Given the description of an element on the screen output the (x, y) to click on. 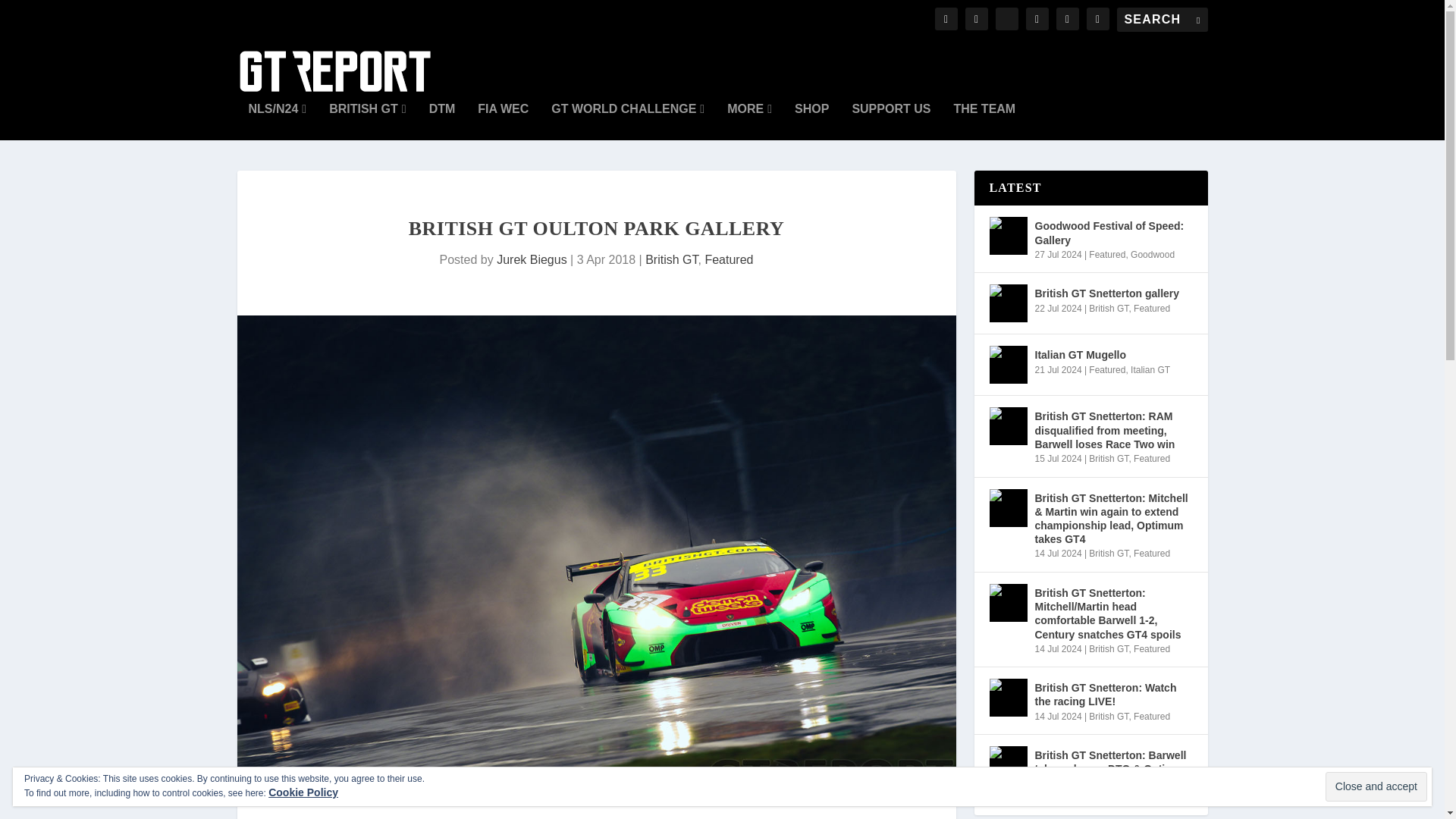
SHOP (811, 121)
Search for: (1161, 19)
Posts by Jurek Biegus (531, 259)
Close and accept (1375, 786)
BRITISH GT (367, 121)
GT WORLD CHALLENGE (627, 121)
FIA WEC (502, 121)
MORE (748, 121)
SUPPORT US (890, 121)
